Given the description of an element on the screen output the (x, y) to click on. 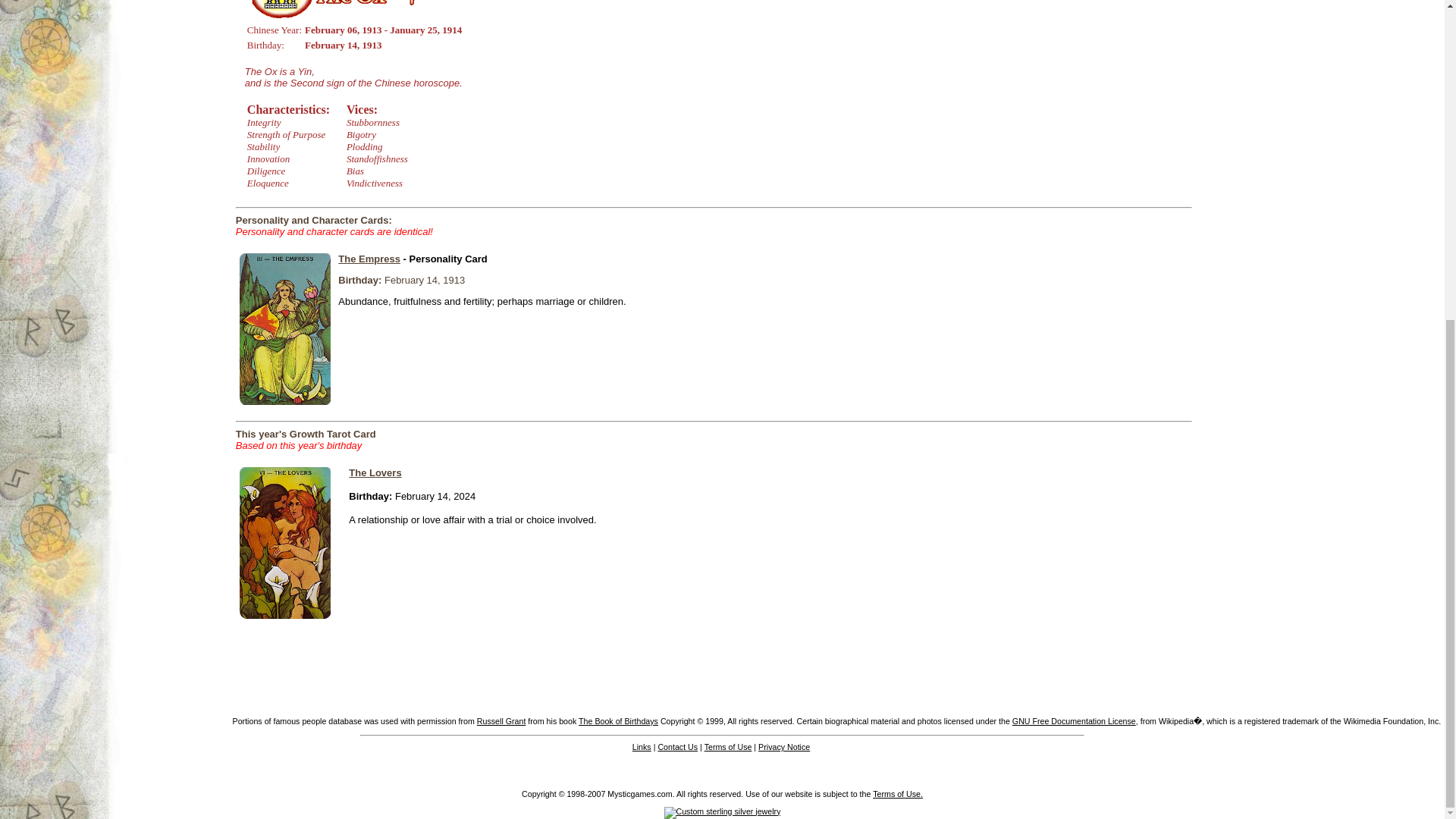
Links (640, 746)
The Empress (368, 258)
GNU Free Documentation License (1073, 720)
Contact Us (677, 746)
Terms of Use (728, 746)
Advertisement (1260, 9)
Privacy Notice (783, 746)
Terms of Use. (897, 793)
Russell Grant (501, 720)
The Lovers (375, 472)
The Book of Birthdays (618, 720)
